Given the description of an element on the screen output the (x, y) to click on. 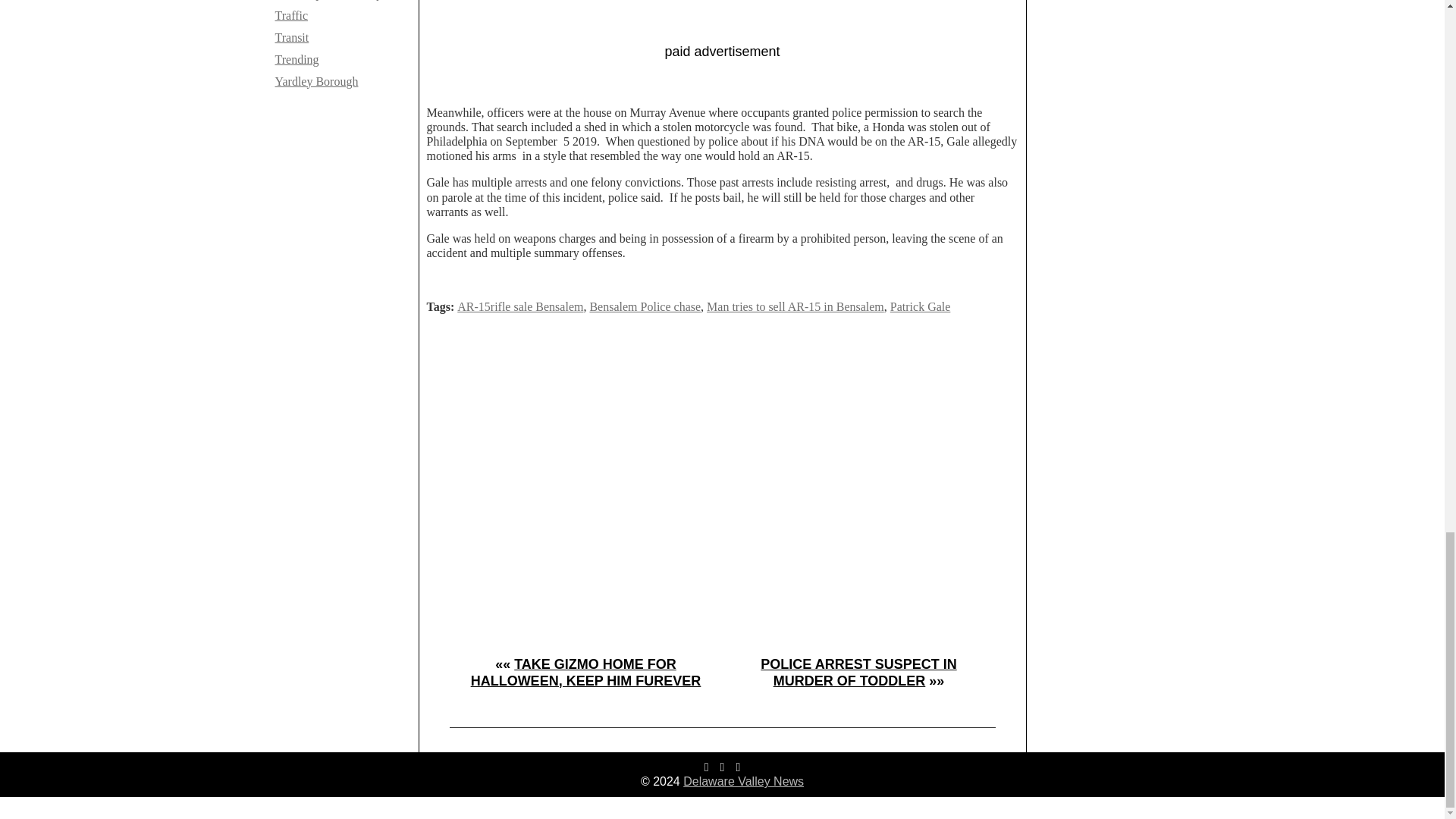
AR-15rifle sale Bensalem (520, 306)
Man tries to sell AR-15 in Bensalem (794, 306)
Bensalem Police chase (644, 306)
POLICE ARREST SUSPECT IN MURDER OF TODDLER (858, 672)
Patrick Gale (919, 306)
TAKE GIZMO HOME FOR HALLOWEEN, KEEP HIM FUREVER (585, 672)
